Given the description of an element on the screen output the (x, y) to click on. 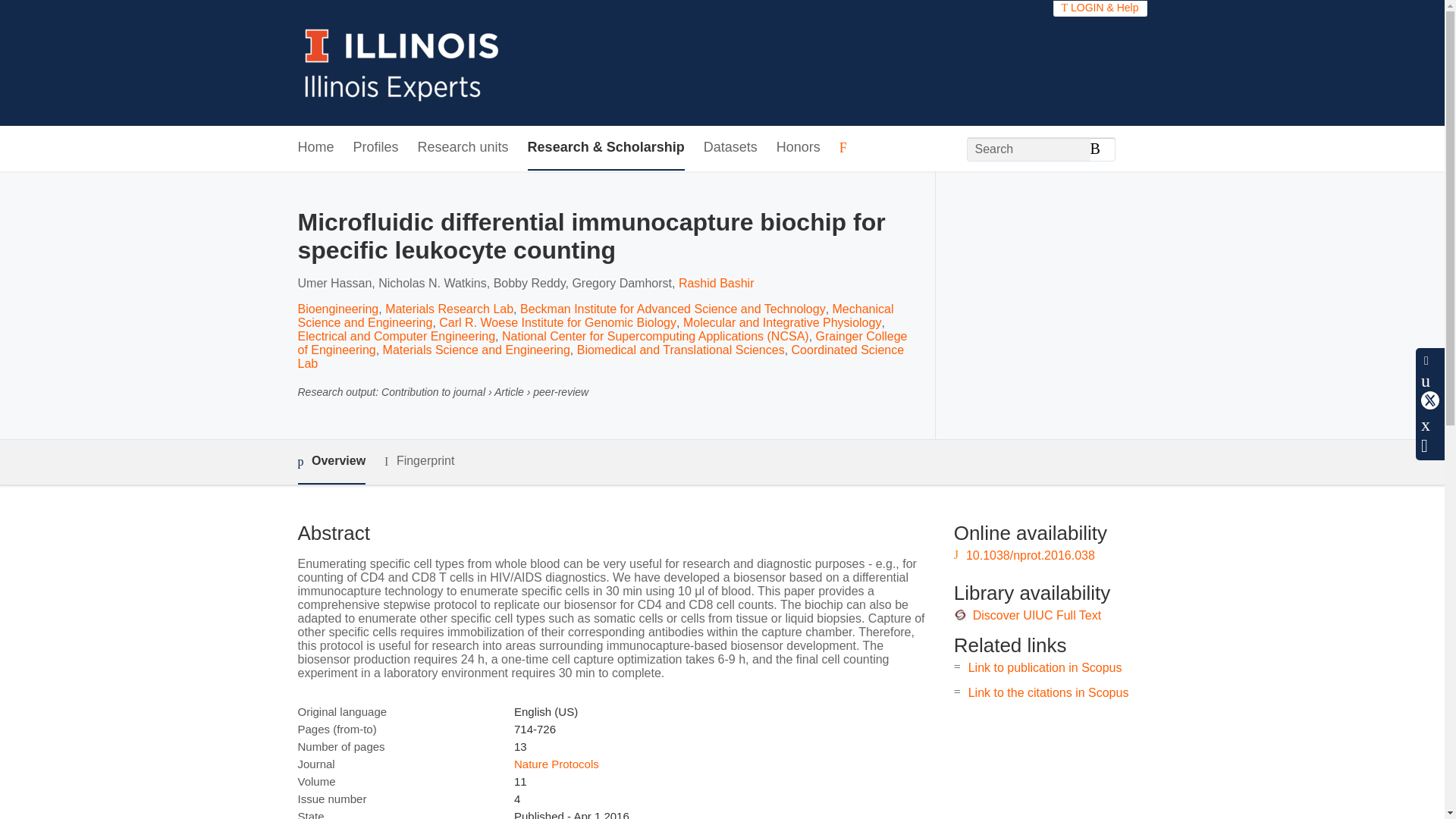
Materials Science and Engineering (476, 349)
Electrical and Computer Engineering (396, 336)
Grainger College of Engineering (602, 343)
Mechanical Science and Engineering (595, 315)
Link to publication in Scopus (1045, 667)
Materials Research Lab (449, 308)
University of Illinois Urbana-Champaign Home (402, 62)
Bioengineering (337, 308)
Coordinated Science Lab (600, 356)
Link to the citations in Scopus (1048, 692)
